Given the description of an element on the screen output the (x, y) to click on. 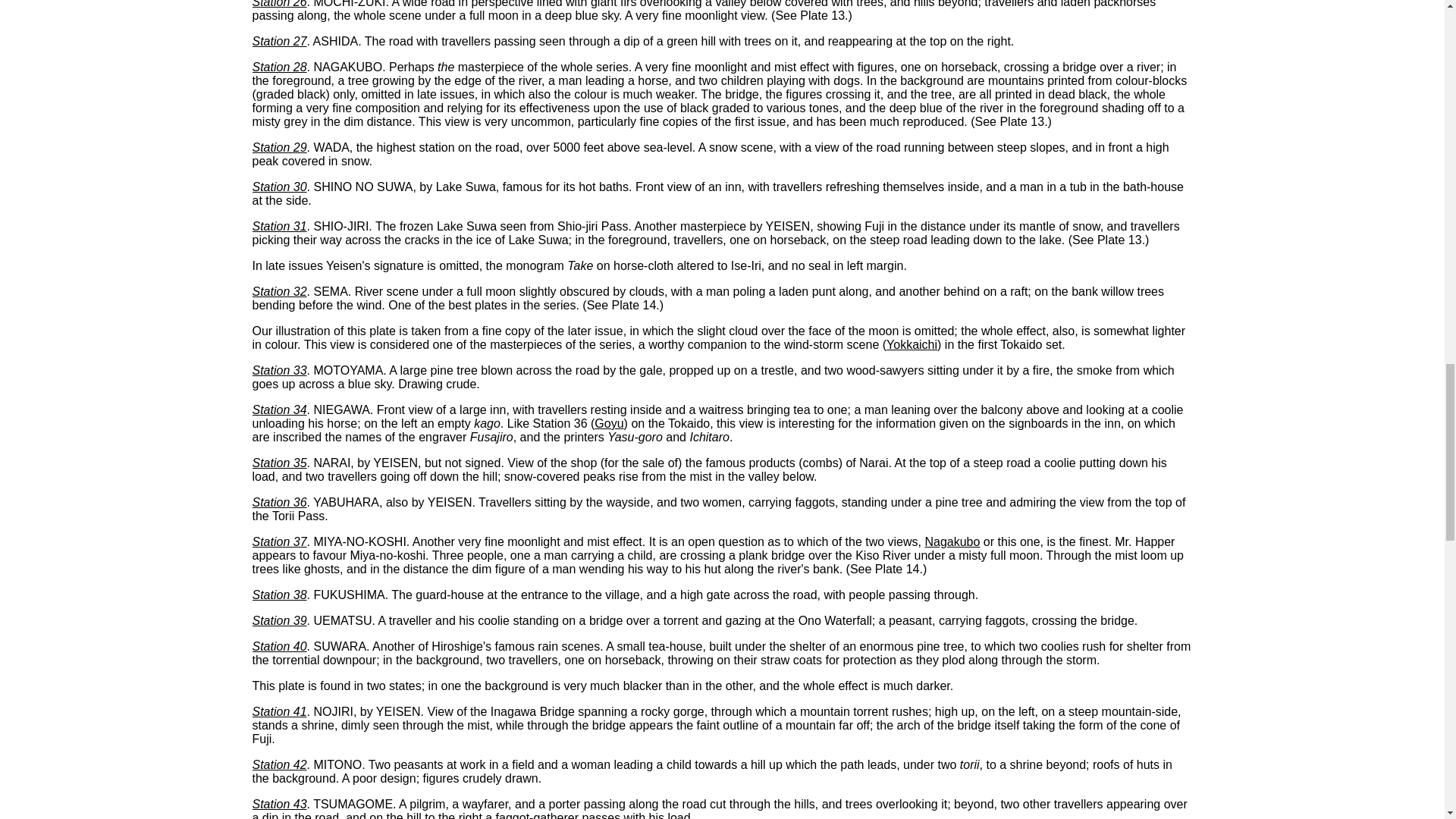
Station 28 (278, 66)
Station 31 (278, 226)
Station 27 (278, 41)
Station 32 (278, 291)
Station 26 (278, 4)
Yokkaichi (911, 344)
Station 30 (278, 186)
Station 33 (278, 369)
Station 29 (278, 146)
